Given the description of an element on the screen output the (x, y) to click on. 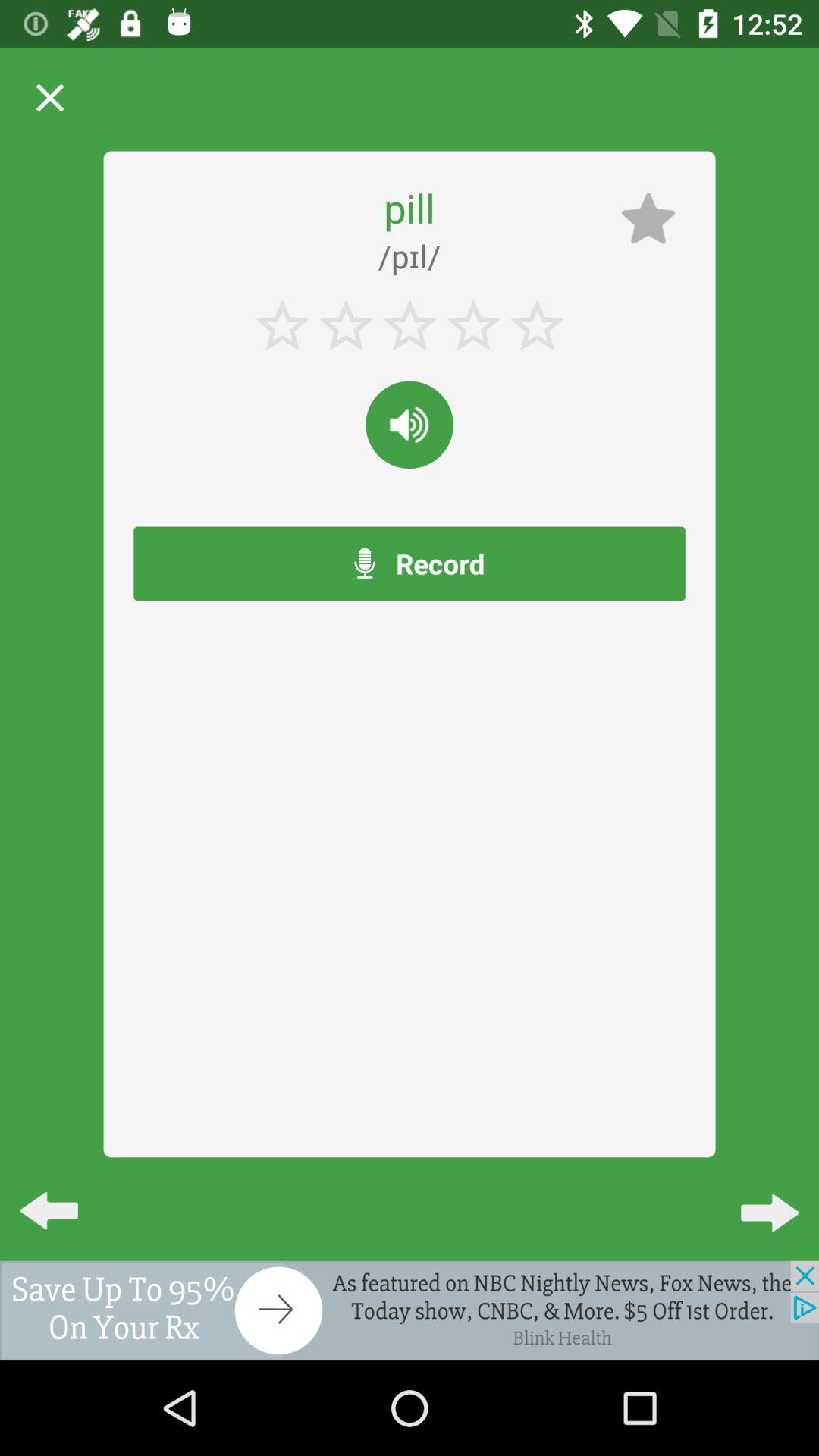
reading the world outloud (409, 424)
